Given the description of an element on the screen output the (x, y) to click on. 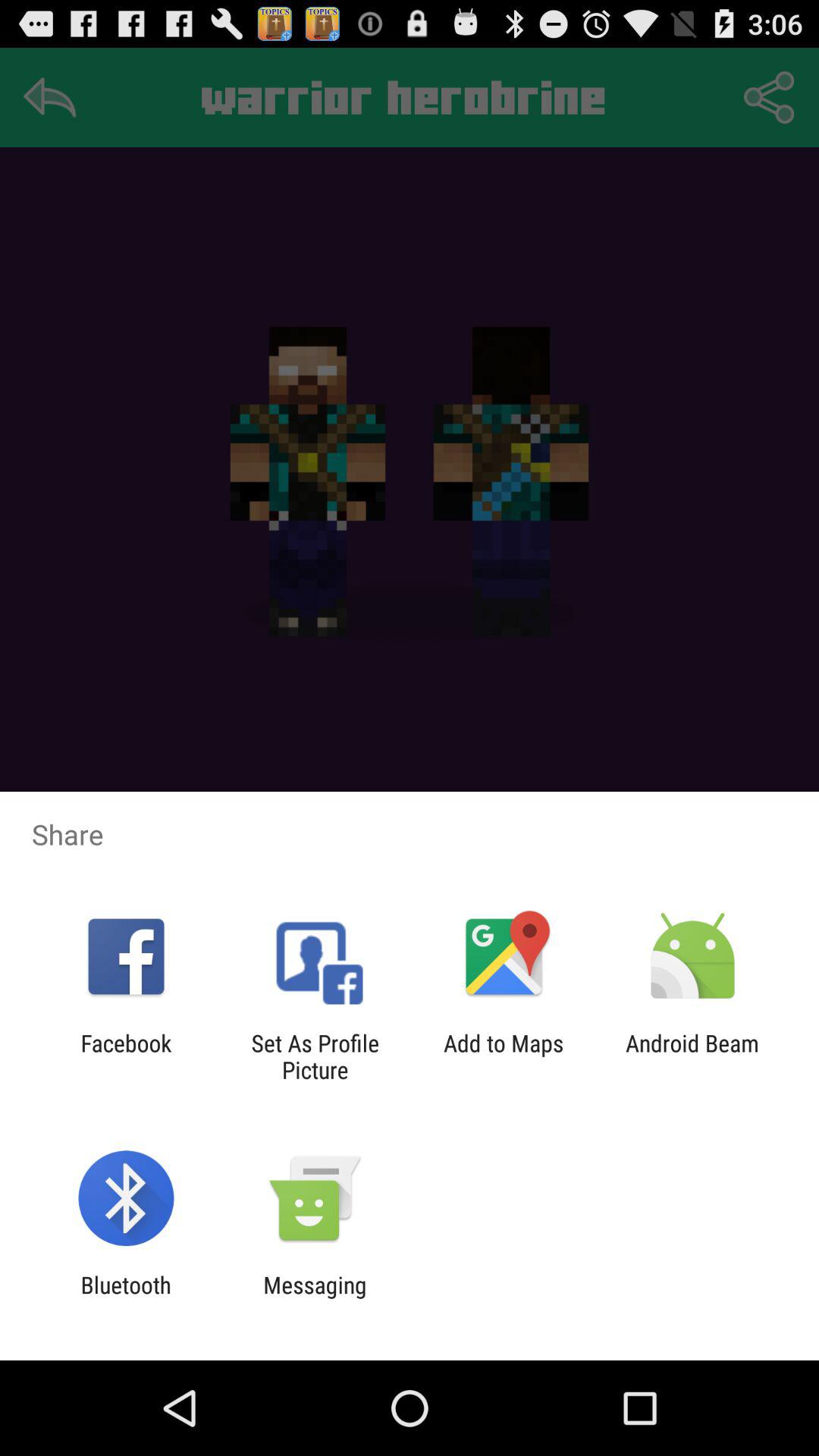
tap the item to the right of add to maps app (692, 1056)
